Given the description of an element on the screen output the (x, y) to click on. 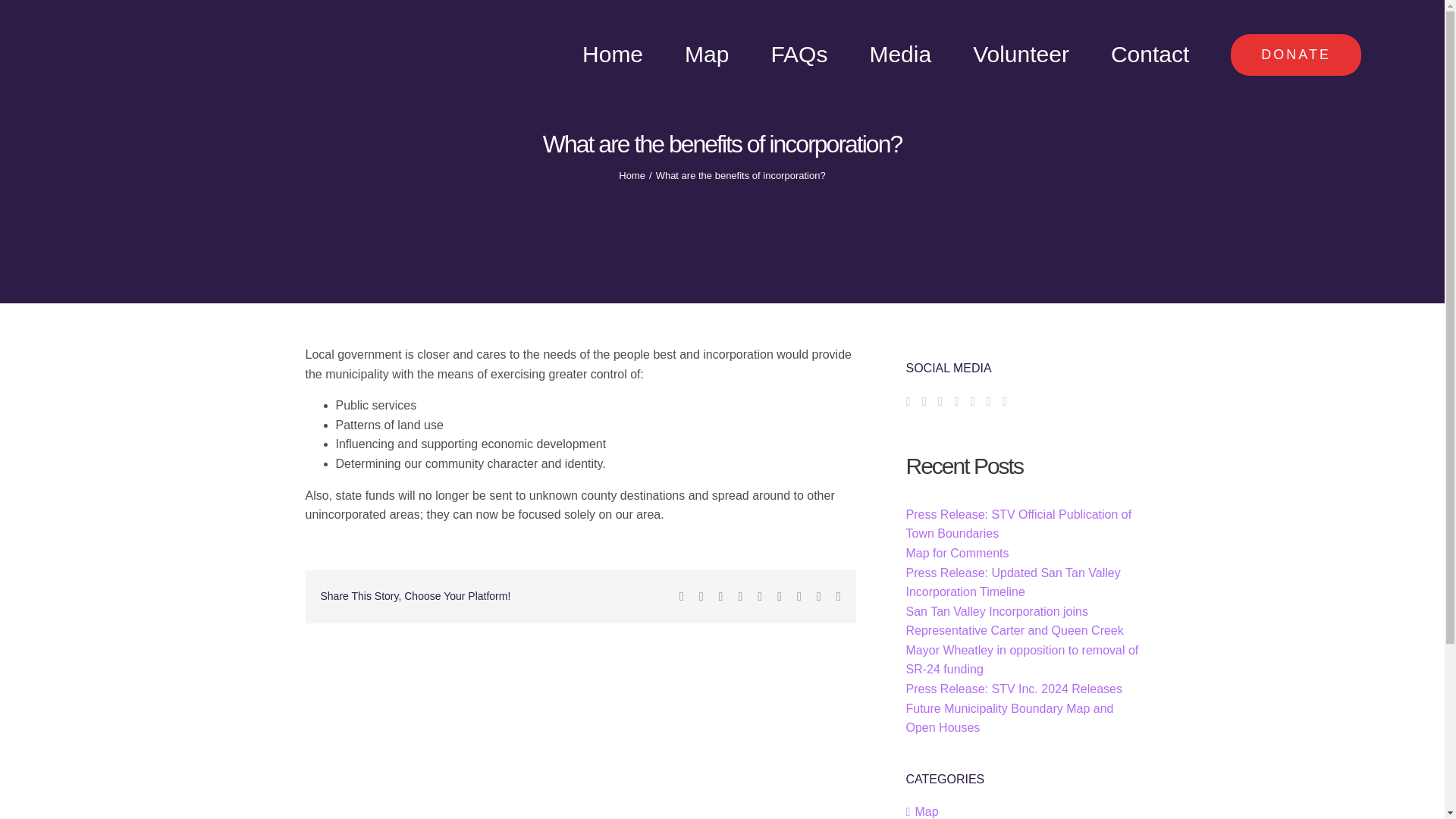
Media (900, 54)
Home (631, 174)
DONATE (1295, 54)
Contact (1149, 54)
Home (612, 54)
FAQs (798, 54)
Volunteer (1020, 54)
